Given the description of an element on the screen output the (x, y) to click on. 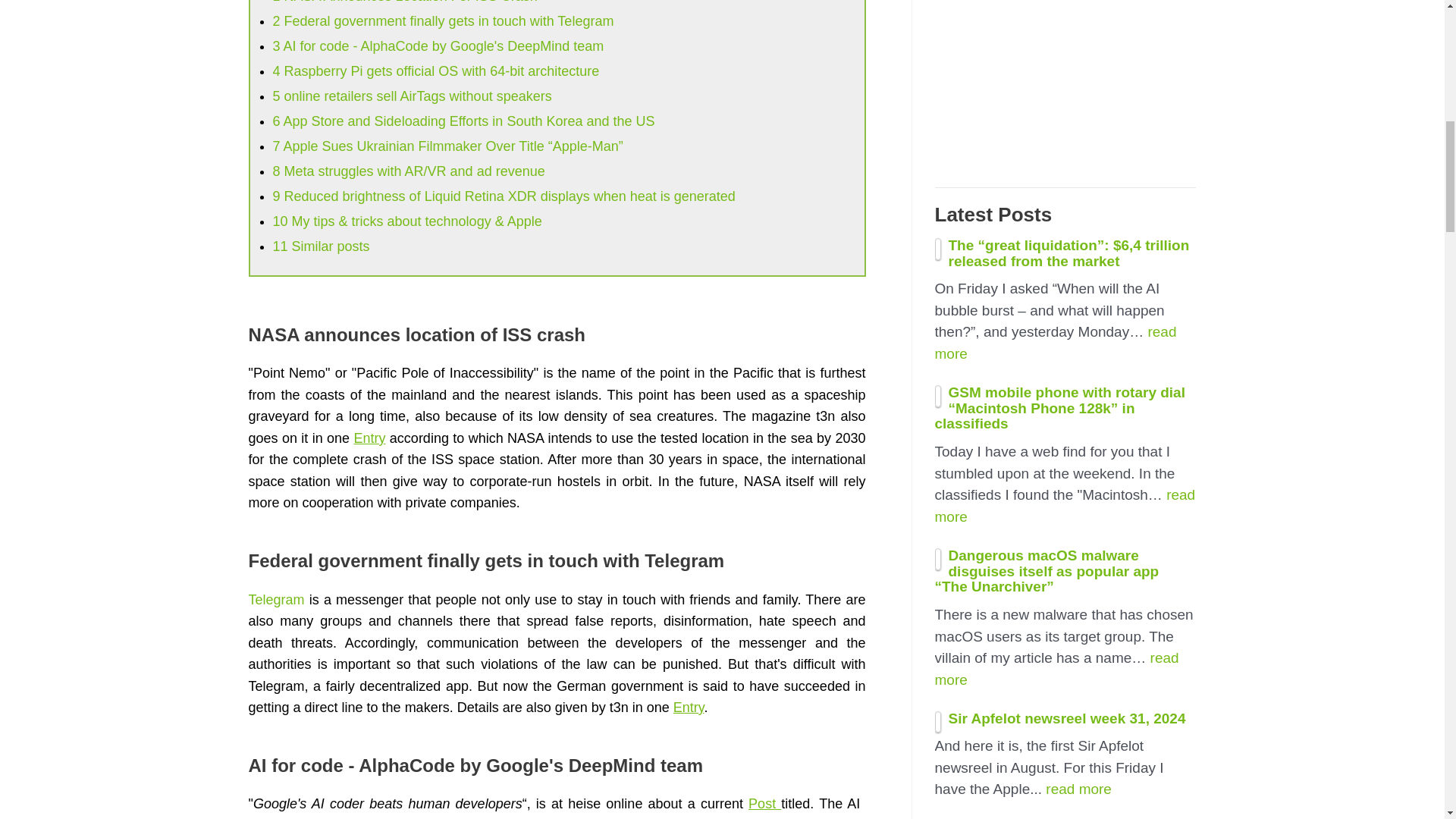
Telegram (276, 599)
